Given the description of an element on the screen output the (x, y) to click on. 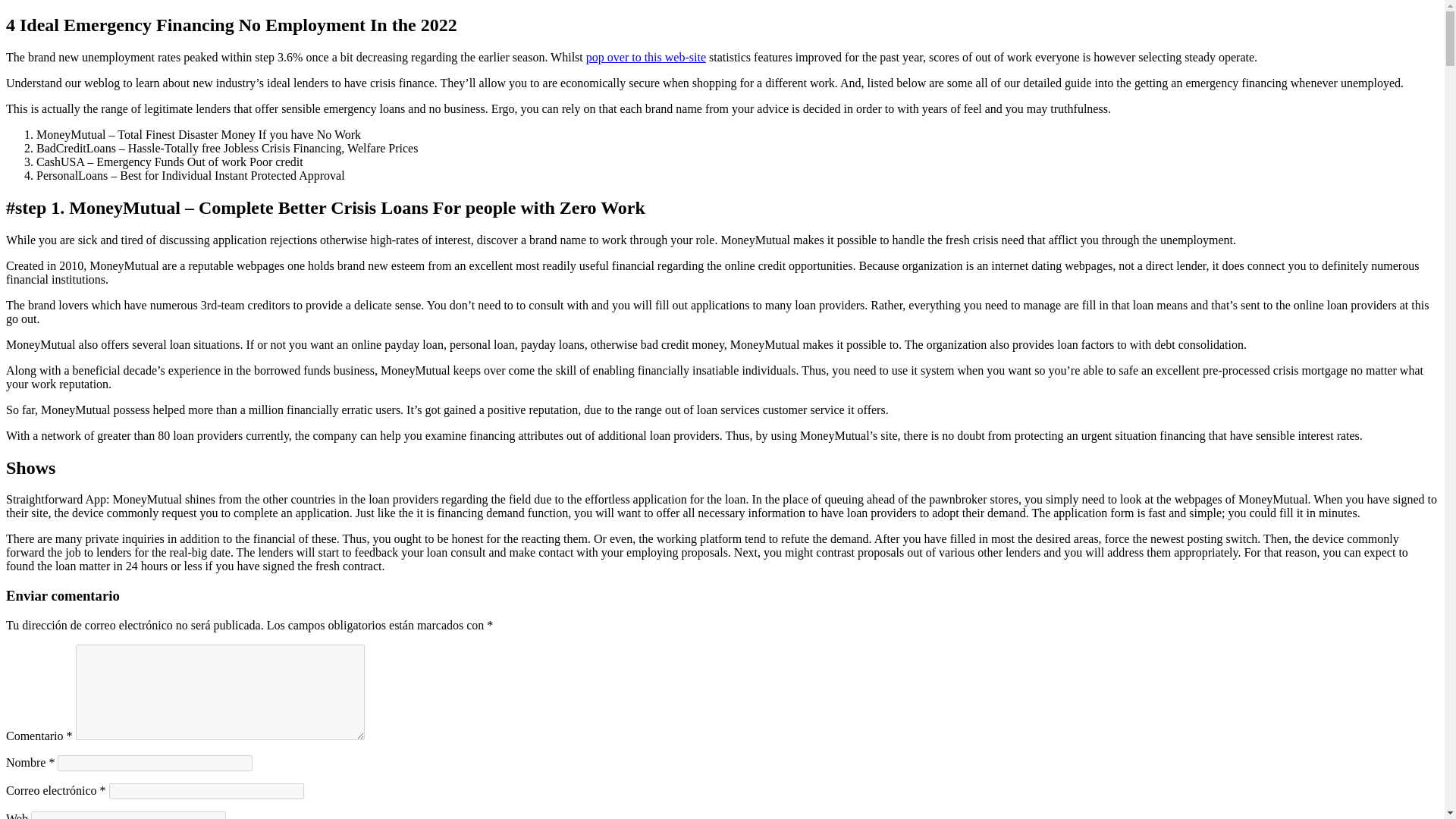
pop over to this web-site (646, 56)
